Given the description of an element on the screen output the (x, y) to click on. 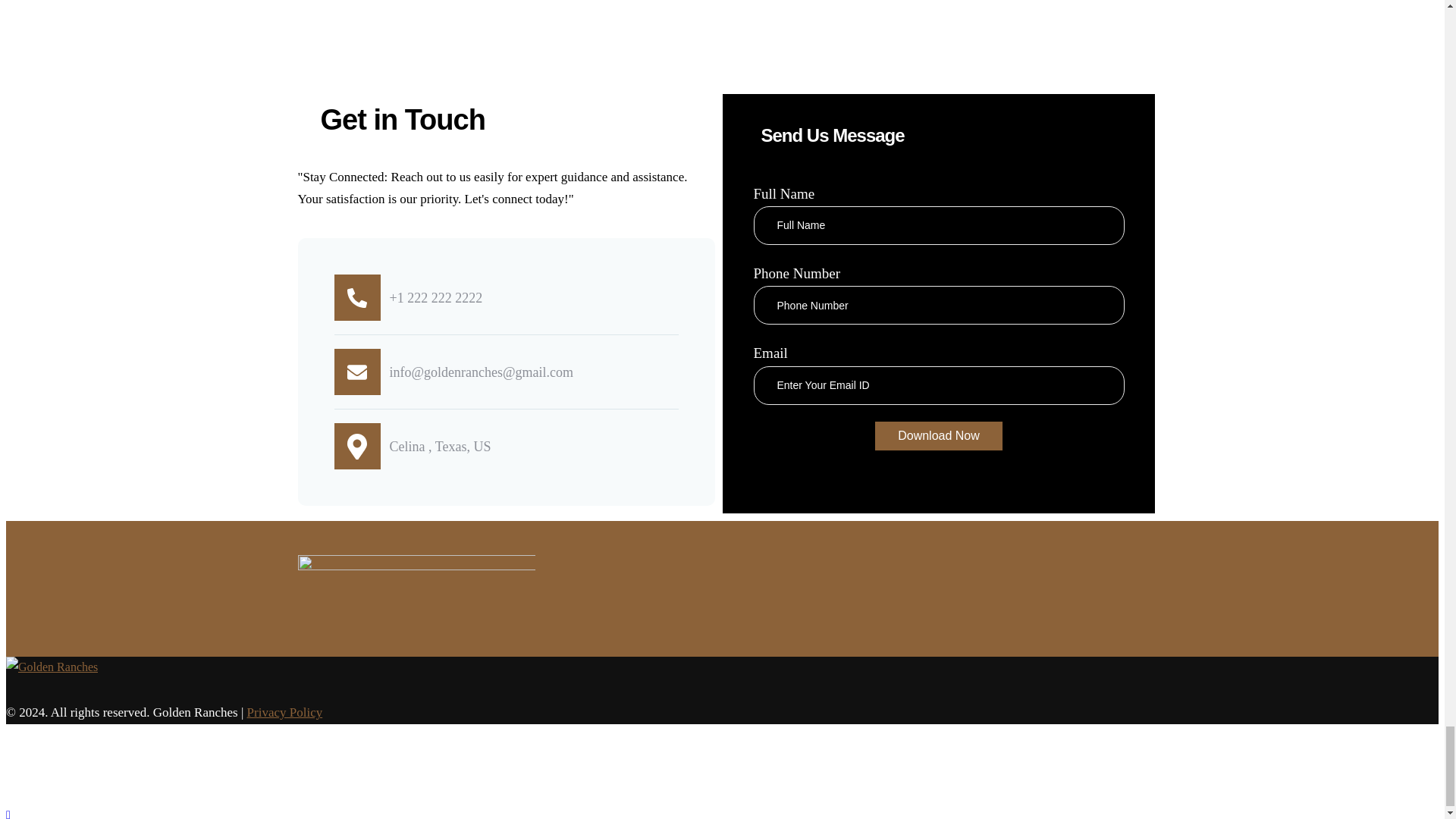
Download Now (939, 434)
Golden Ranches (51, 666)
